Given the description of an element on the screen output the (x, y) to click on. 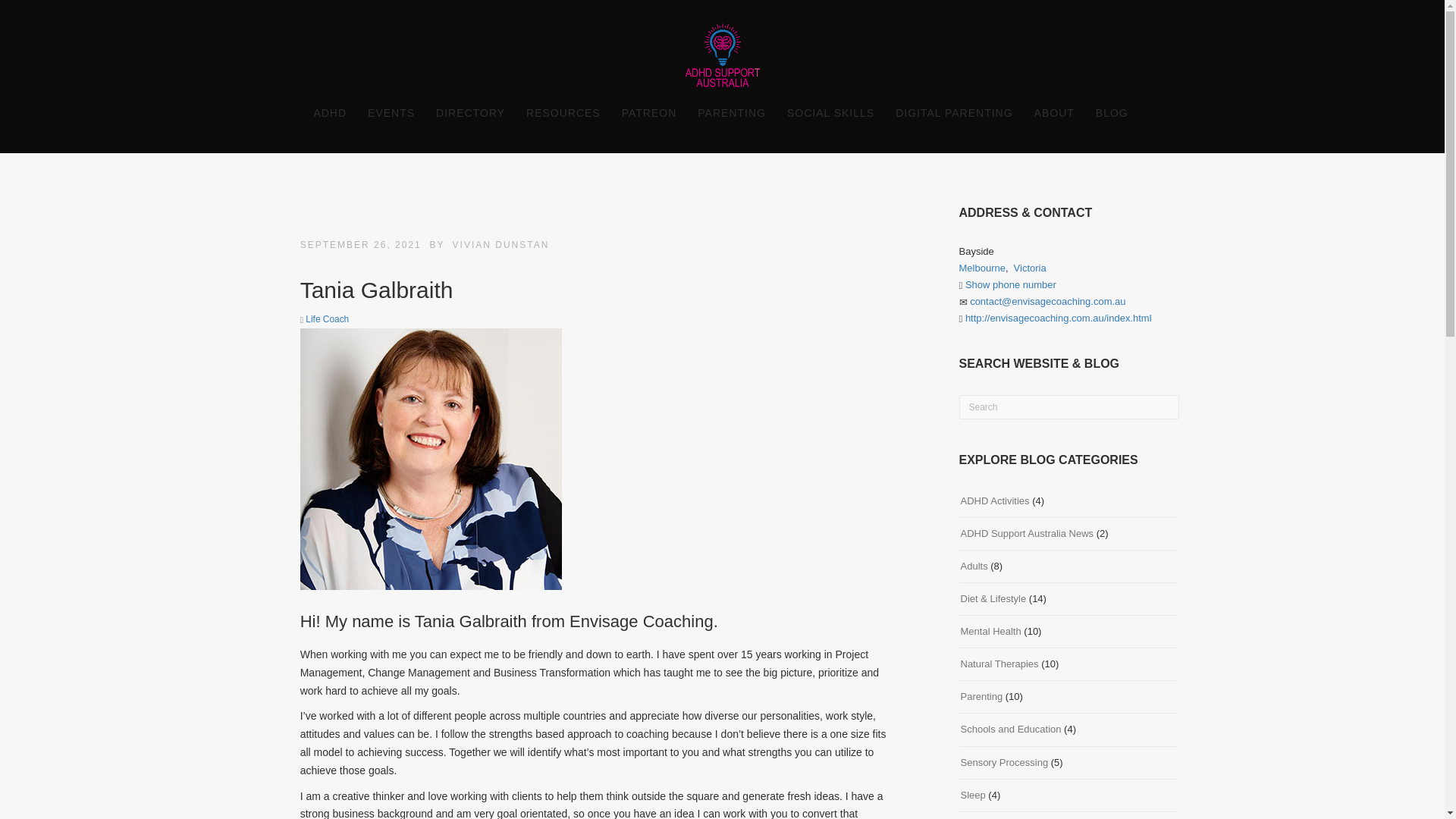
PARENTING (731, 113)
DIGITAL PARENTING (954, 113)
ABOUT (1053, 113)
PATREON (649, 113)
EVENTS (390, 113)
SOCIAL SKILLS (830, 113)
BLOG (1111, 113)
DIRECTORY (470, 113)
ADHD (329, 113)
RESOURCES (563, 113)
VIVIAN DUNSTAN (501, 244)
Life Coach (327, 318)
